Given the description of an element on the screen output the (x, y) to click on. 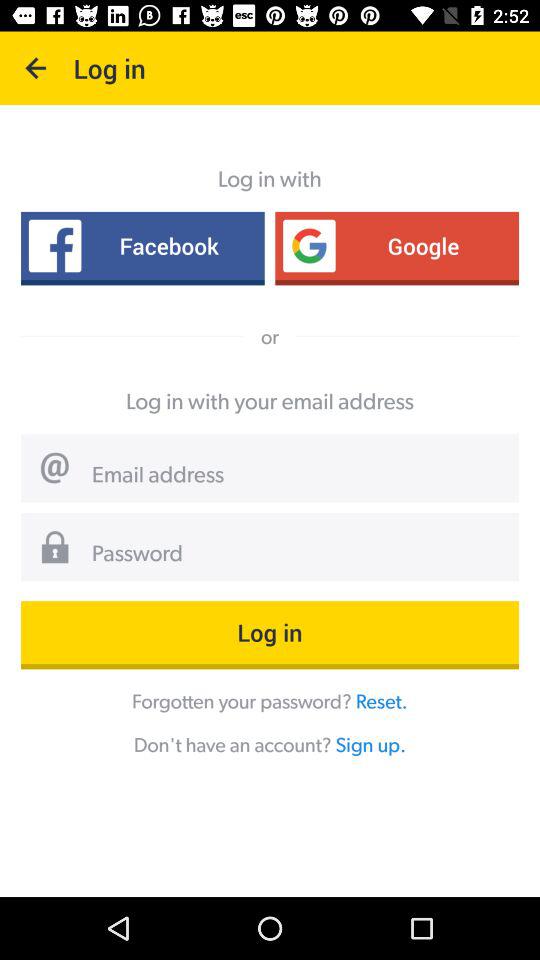
select item to the right of facebook icon (397, 245)
